Given the description of an element on the screen output the (x, y) to click on. 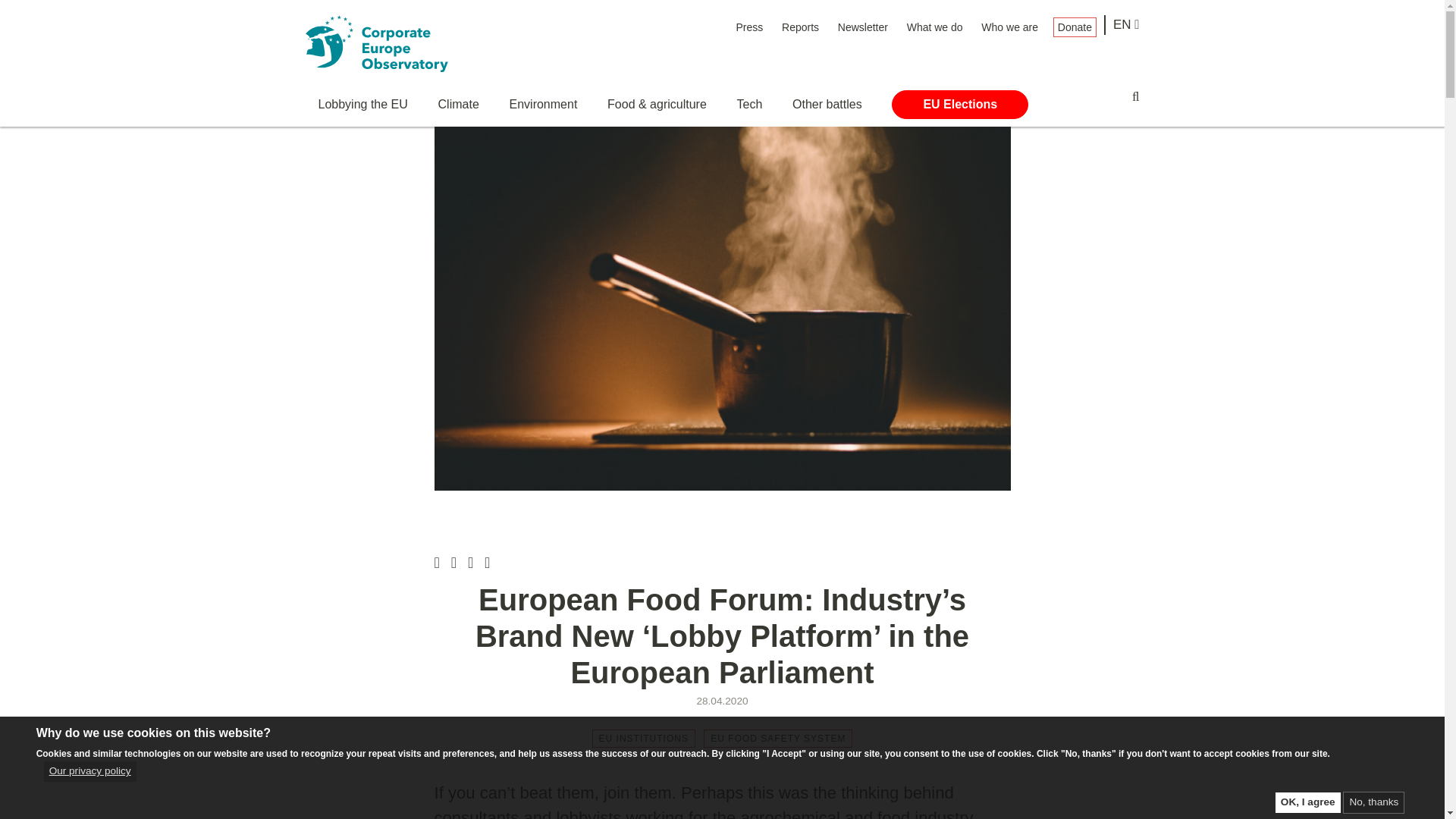
EN (1126, 25)
Other battles (826, 104)
Newsletter (862, 27)
Press (749, 27)
Lobbying the EU (362, 104)
Search (1135, 96)
Who we are (1009, 27)
Reports (799, 27)
Environment (543, 104)
Tech (749, 104)
EU Elections (959, 104)
Donate (1074, 26)
What we do (934, 27)
Climate (458, 104)
